Given the description of an element on the screen output the (x, y) to click on. 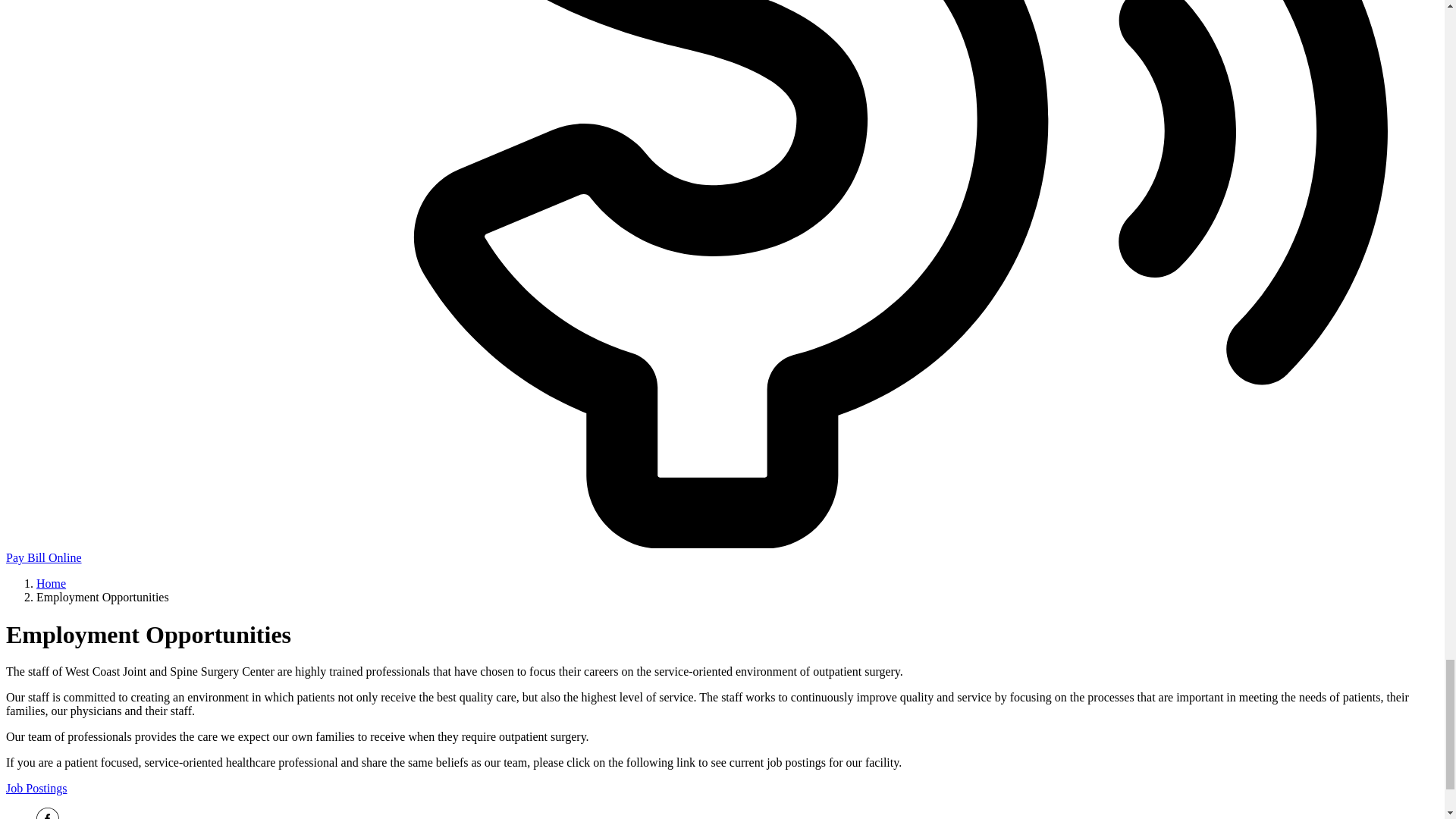
6623FE72-E277-400B-8FE1-1D4F4ACE9857 (47, 813)
Home (50, 583)
Job Postings (35, 788)
